Given the description of an element on the screen output the (x, y) to click on. 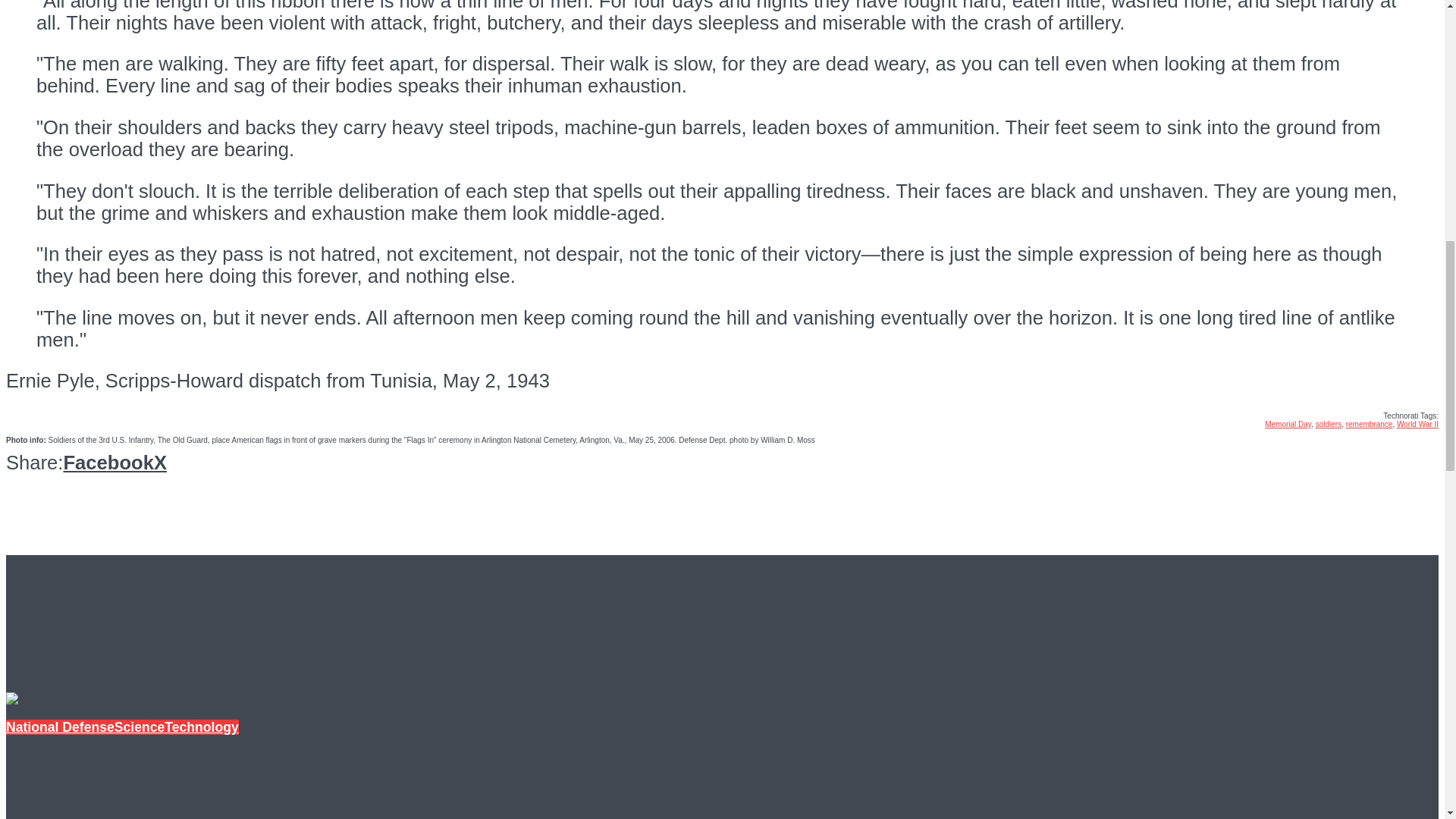
A Real Space Force? (173, 783)
Science (140, 726)
soldiers (1328, 424)
remembrance (1369, 424)
Technology (201, 726)
Facebook (107, 462)
Memorial Day (1288, 424)
National Defense (60, 726)
